Given the description of an element on the screen output the (x, y) to click on. 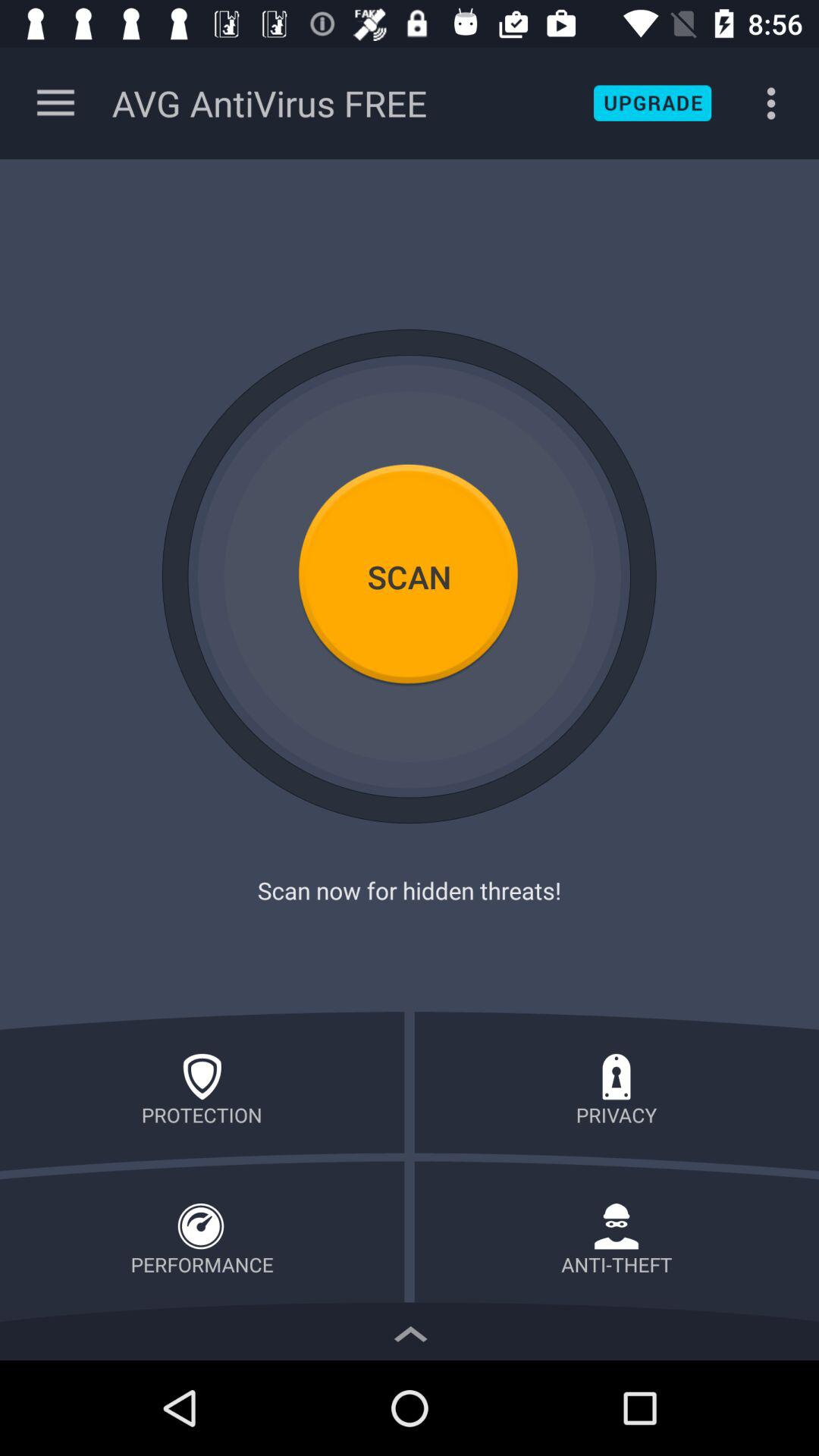
show less (409, 1330)
